Given the description of an element on the screen output the (x, y) to click on. 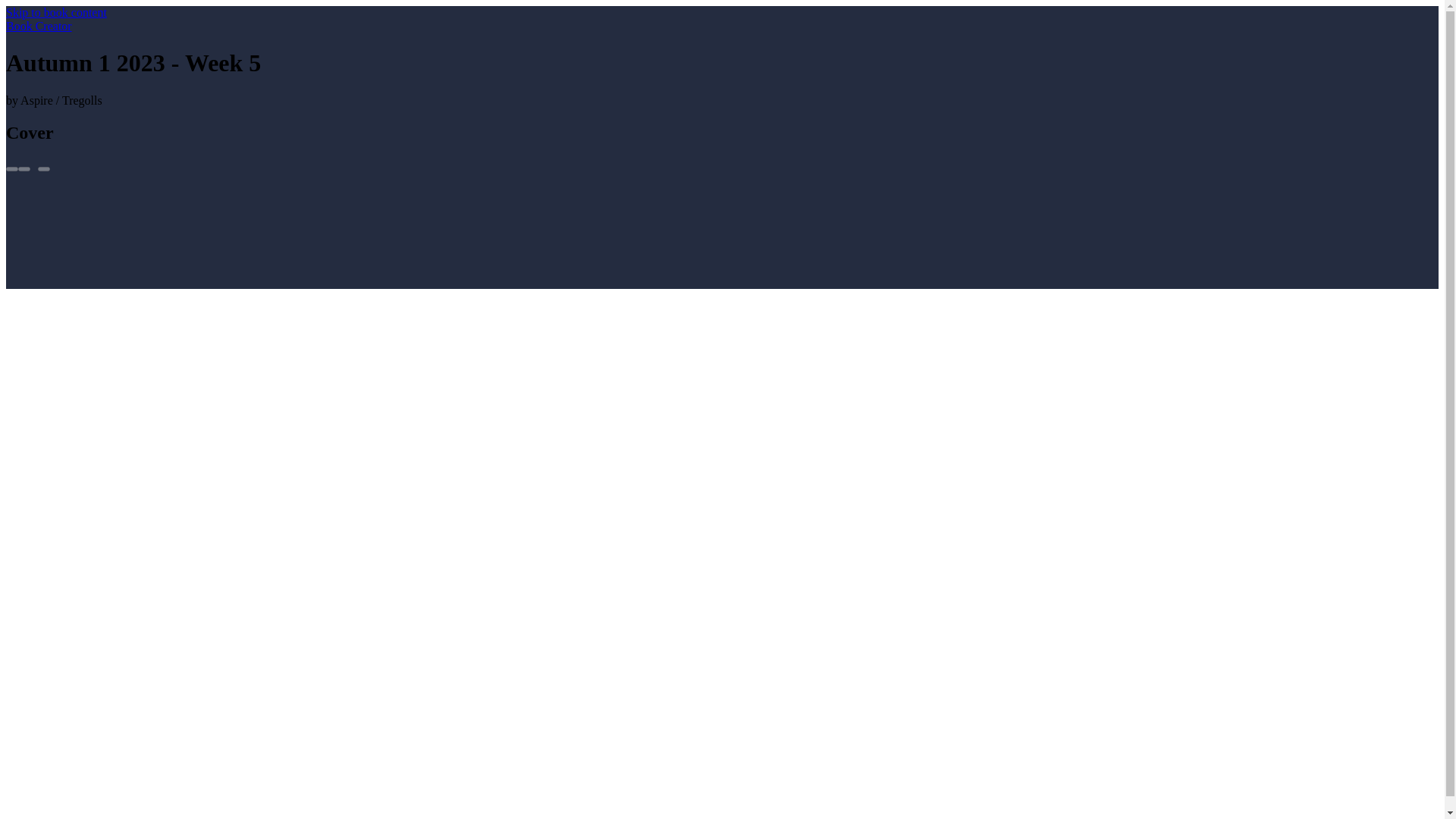
Skip to book content (55, 11)
Settings (23, 169)
Go to Book Creator website (38, 25)
Skip to book content (55, 11)
Pages (11, 169)
Menu (43, 169)
Book Creator (38, 25)
